Given the description of an element on the screen output the (x, y) to click on. 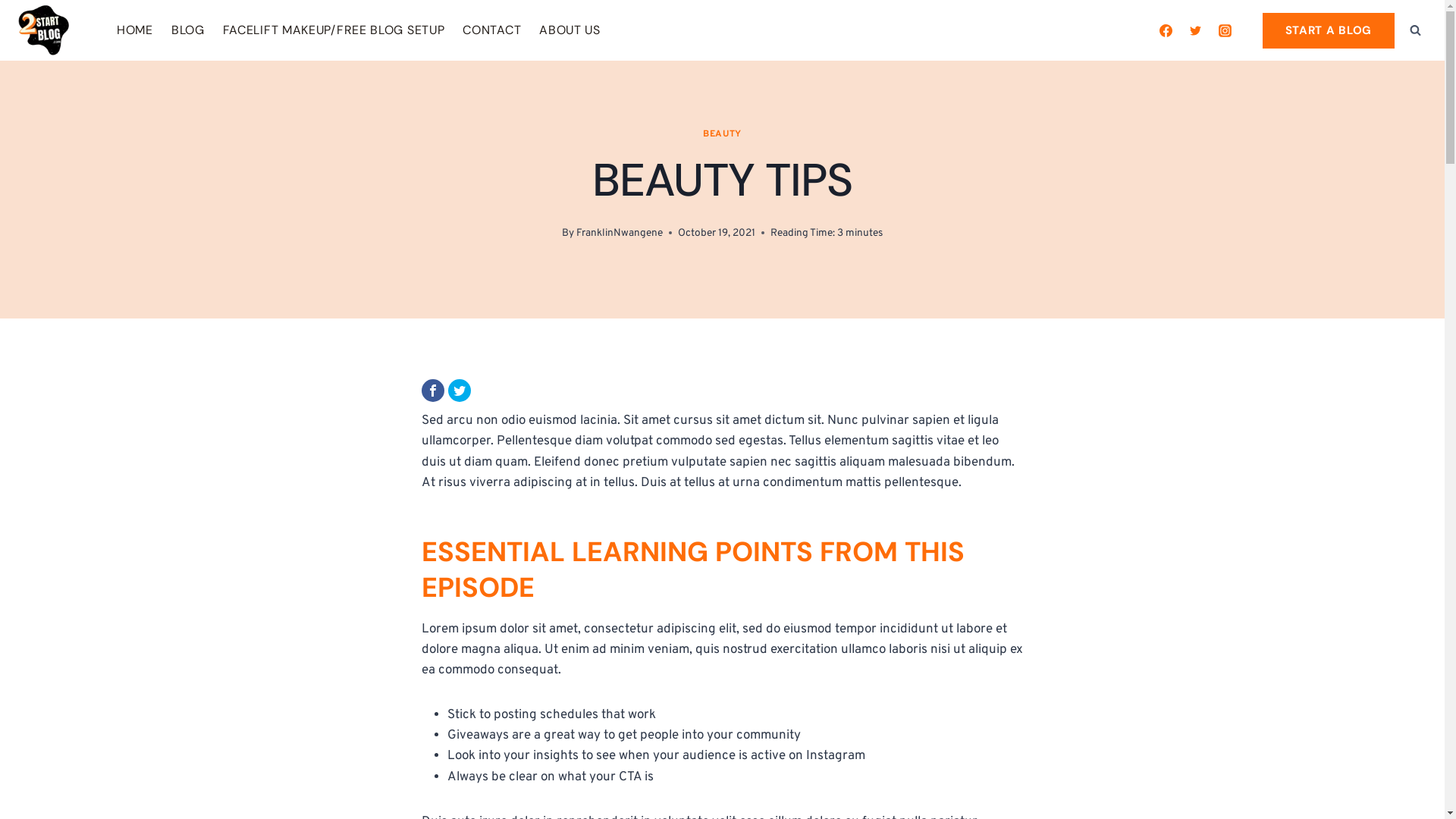
BLOG Element type: text (187, 30)
CONTACT Element type: text (491, 30)
HOME Element type: text (134, 30)
FACELIFT MAKEUP/FREE BLOG SETUP Element type: text (333, 30)
FranklinNwangene Element type: text (619, 232)
BEAUTY Element type: text (721, 134)
START A BLOG Element type: text (1328, 29)
ABOUT US Element type: text (569, 30)
